Given the description of an element on the screen output the (x, y) to click on. 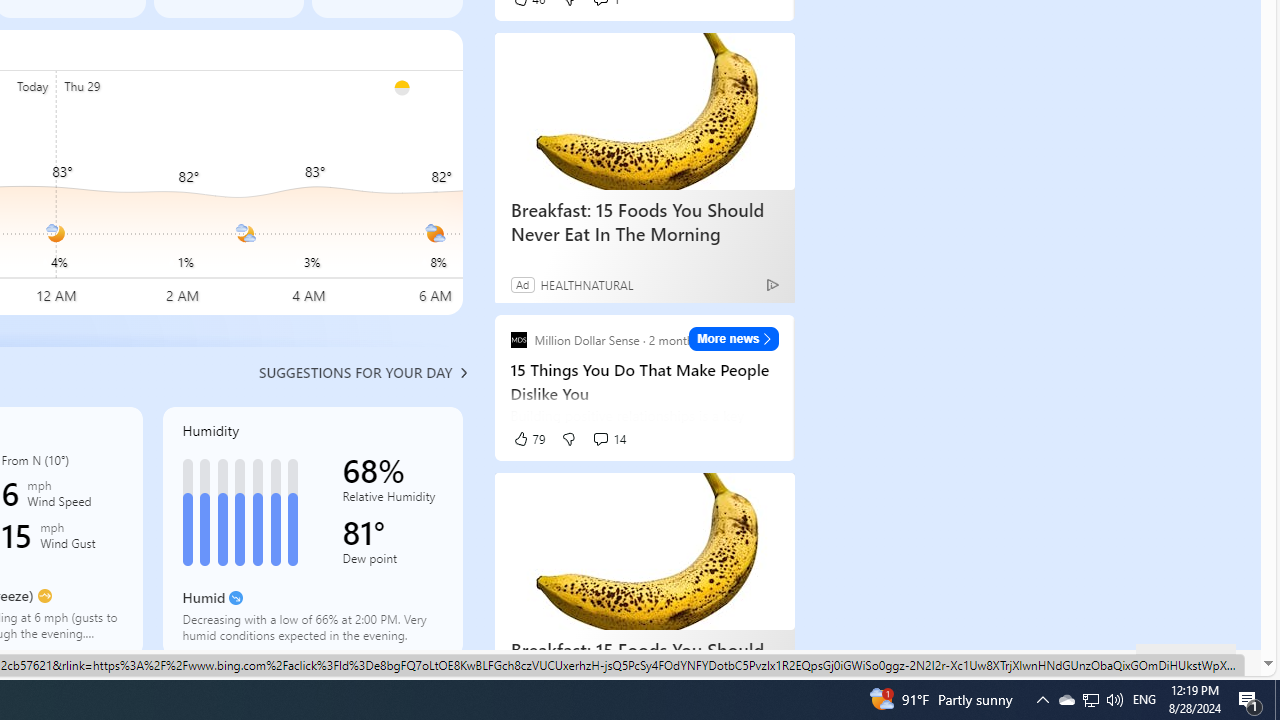
Terms of use (861, 662)
Class: feedback_link_icon-DS-EntryPoint1-1 (1156, 663)
Ad Choice (772, 284)
Breakfast: 15 Foods You Should Never Eat In The Morning (644, 661)
Humidity (312, 531)
Consumer Health Privacy (619, 663)
Dew point (391, 562)
Consumer Health Privacy (619, 662)
Data Providers (1025, 662)
Feedback (1186, 659)
Privacy & Cookies (759, 663)
Terms of use (861, 663)
Advertise (940, 662)
Breakfast: 15 Foods You Should Never Eat In The Morning (644, 551)
More news (733, 338)
